Given the description of an element on the screen output the (x, y) to click on. 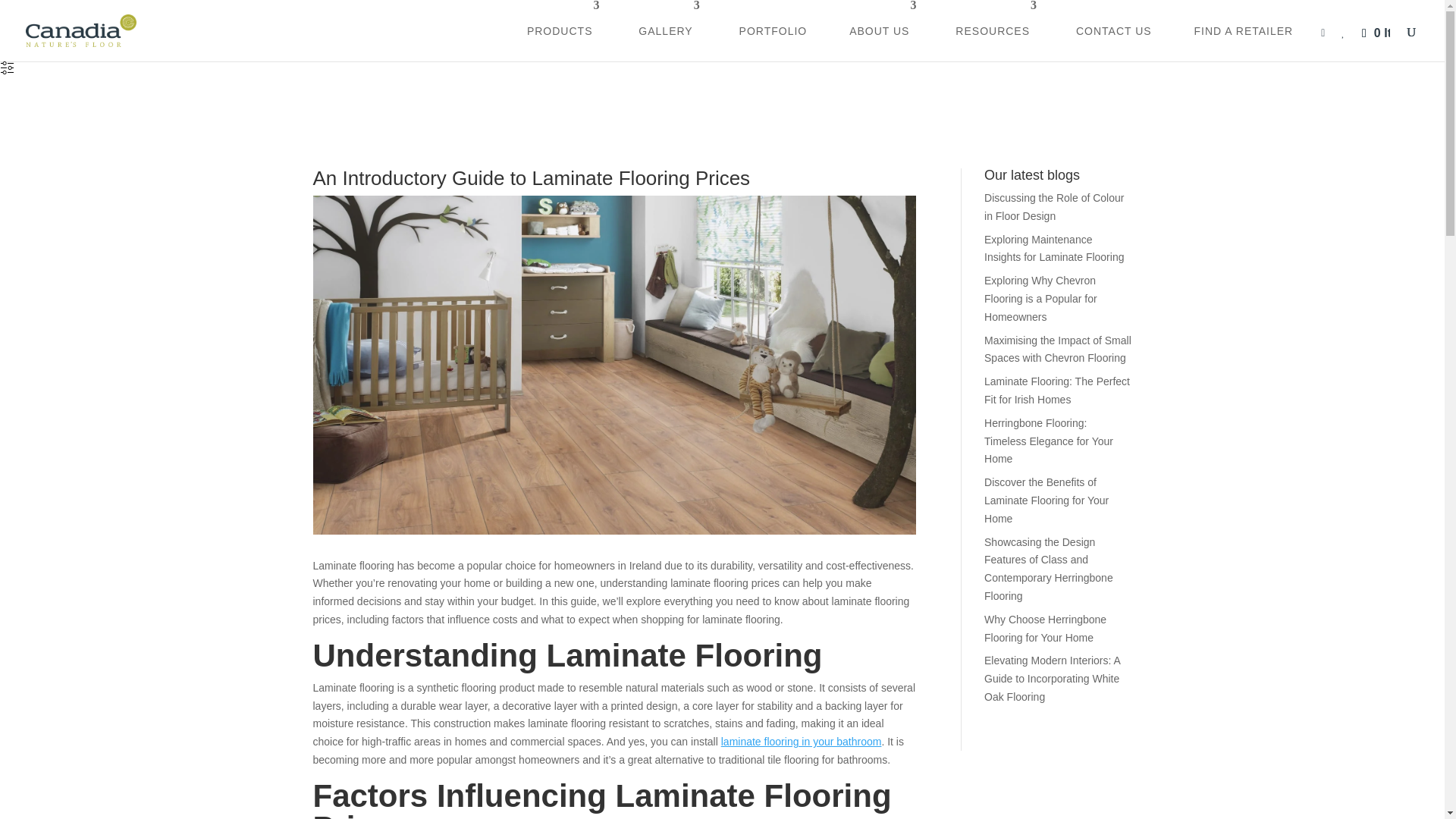
PORTFOLIO (773, 30)
PRODUCTS (561, 30)
ABOUT US (881, 30)
RESOURCES (994, 30)
GALLERY (667, 30)
